Given the description of an element on the screen output the (x, y) to click on. 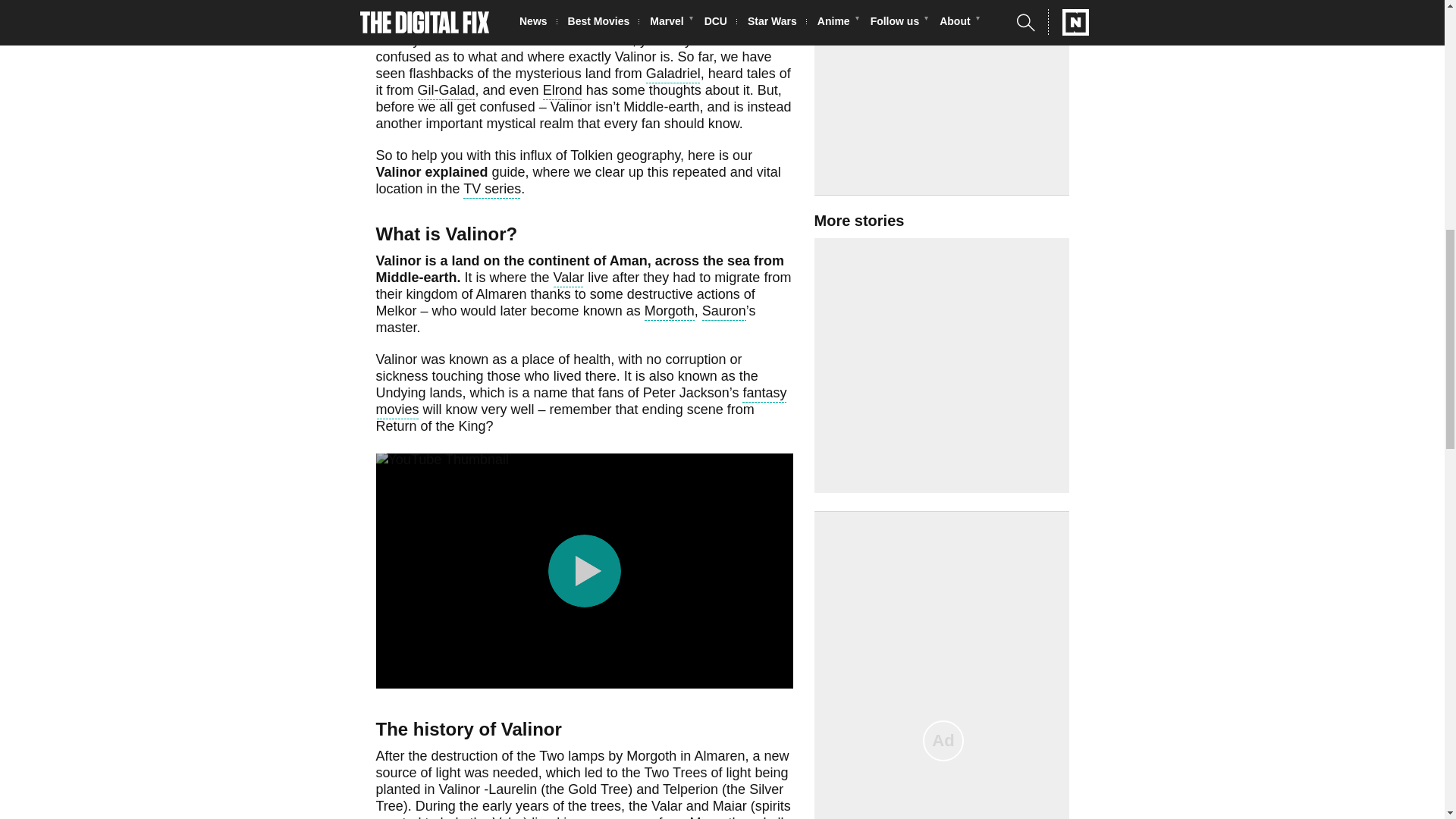
Gil-Galad (446, 91)
Galadriel (673, 75)
Lord of the Rings movies (703, 25)
